Given the description of an element on the screen output the (x, y) to click on. 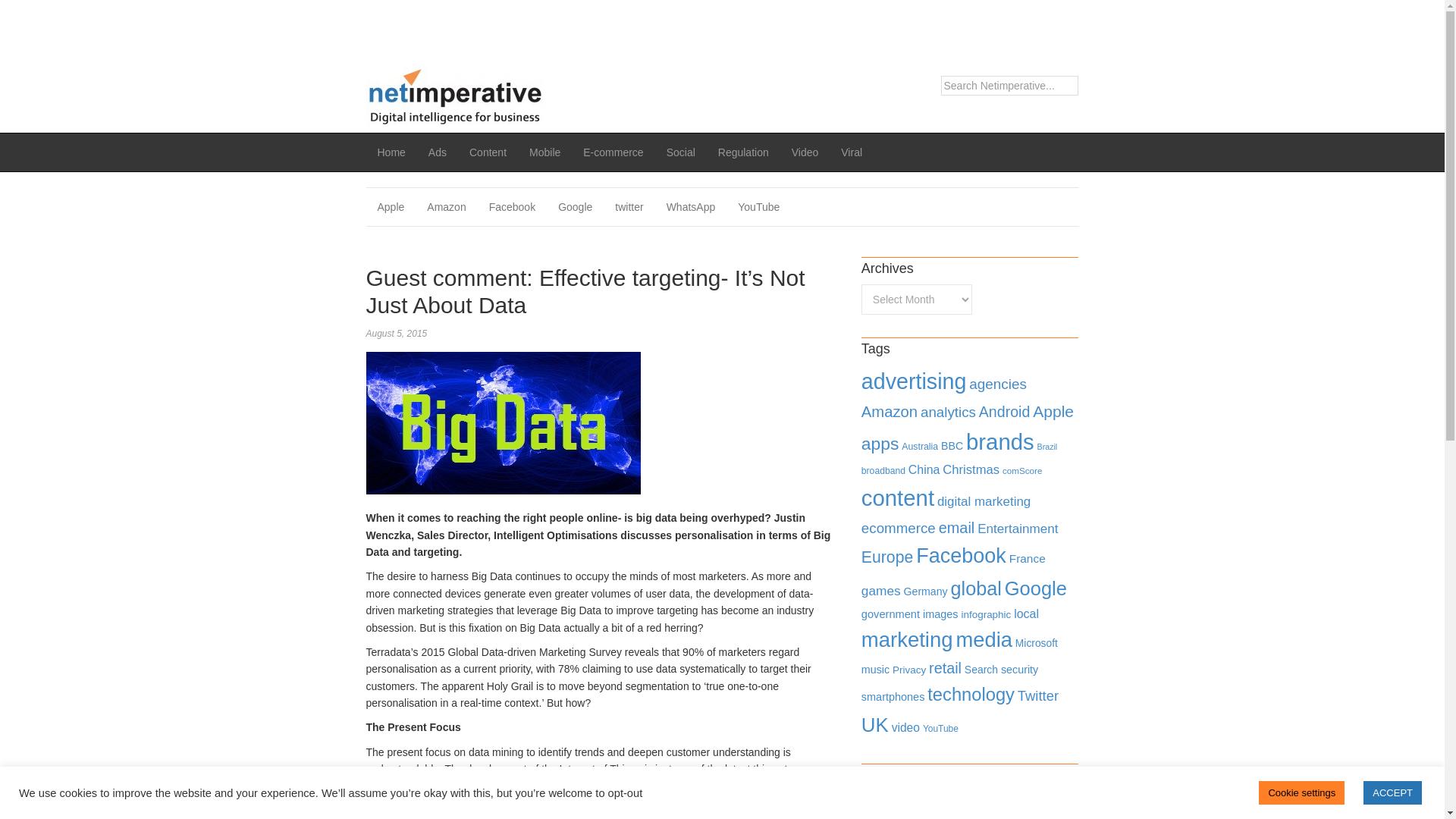
Amazon (445, 207)
Ads (437, 152)
Mobile (545, 152)
apps (880, 443)
Apple (1053, 411)
Home (390, 152)
Facebook (512, 207)
Amazon (445, 207)
